Given the description of an element on the screen output the (x, y) to click on. 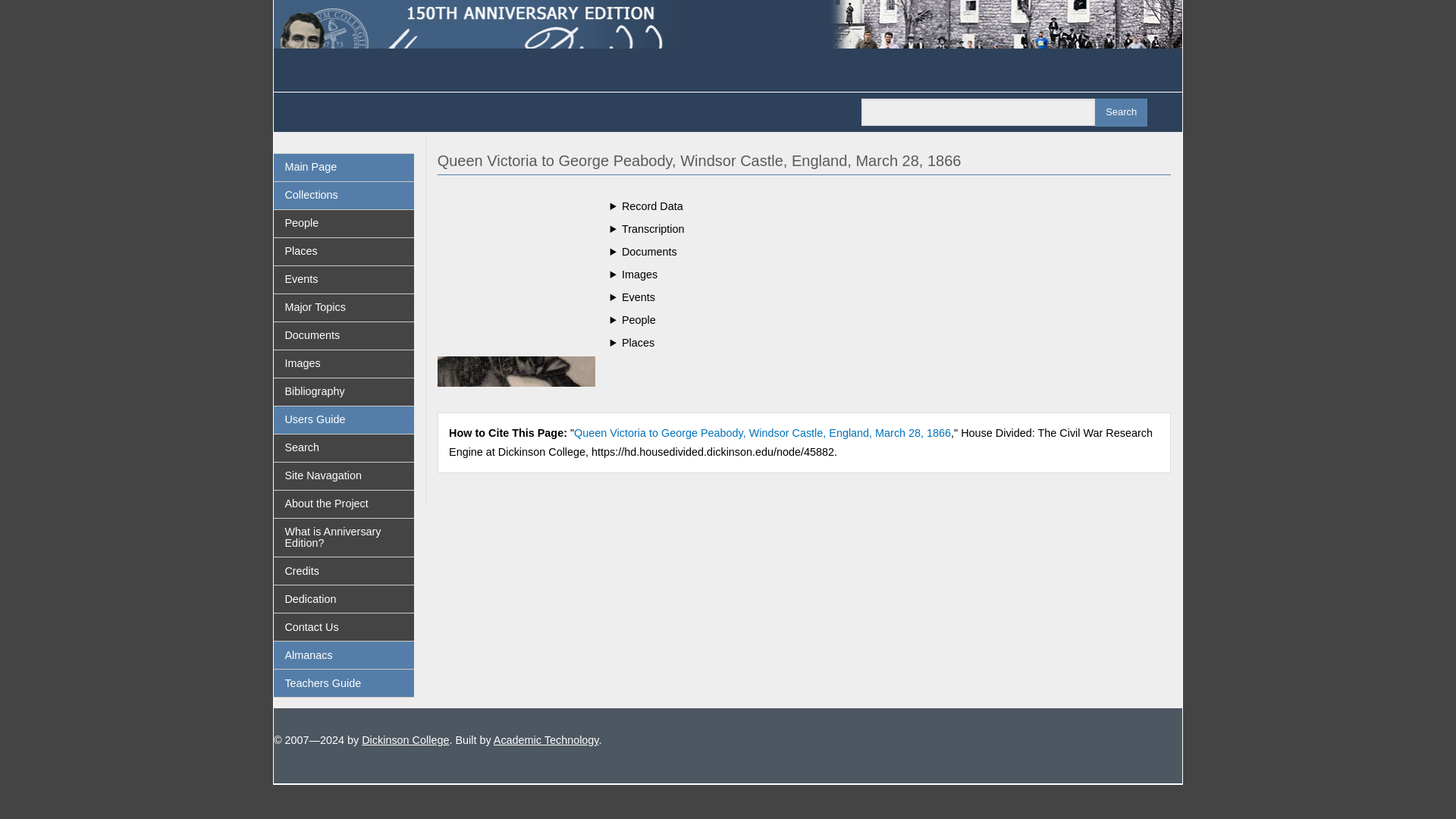
Bibliography (343, 391)
Search (1120, 112)
Images (343, 363)
Credits (343, 570)
Dedication (343, 598)
Main Page (343, 166)
Contact Us (343, 626)
Major Topics (343, 307)
People (343, 223)
